Given the description of an element on the screen output the (x, y) to click on. 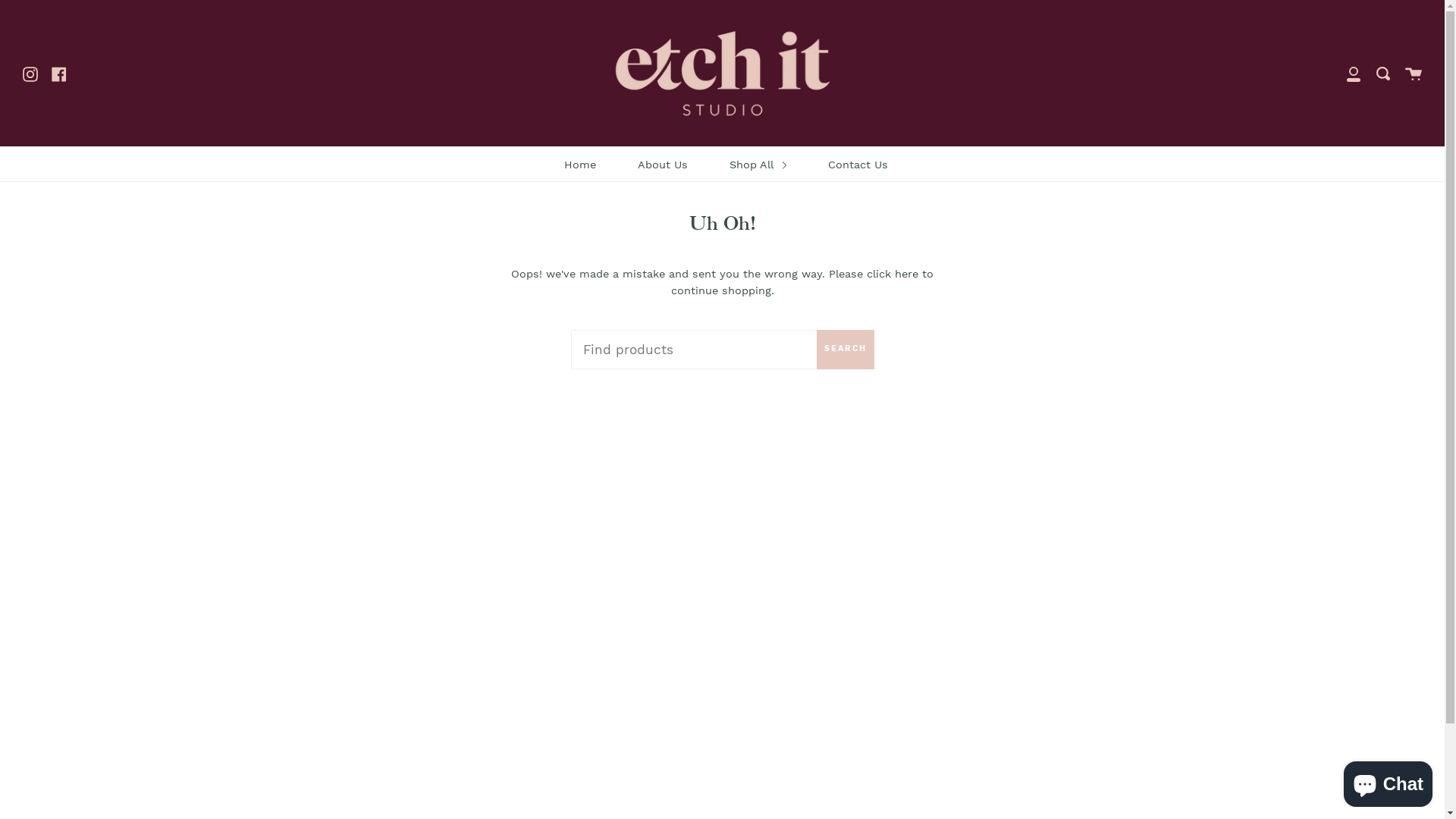
Search Element type: text (1383, 73)
Shop All Element type: text (757, 164)
Home Element type: text (579, 164)
Cart Element type: text (1413, 73)
Contact Us Element type: text (857, 164)
SEARCH Element type: text (844, 349)
About Us Element type: text (662, 164)
Instagram Element type: text (29, 72)
Facebook Element type: text (58, 72)
My Account Element type: text (1353, 73)
Shopify online store chat Element type: hover (1388, 780)
here Element type: text (906, 273)
